Given the description of an element on the screen output the (x, y) to click on. 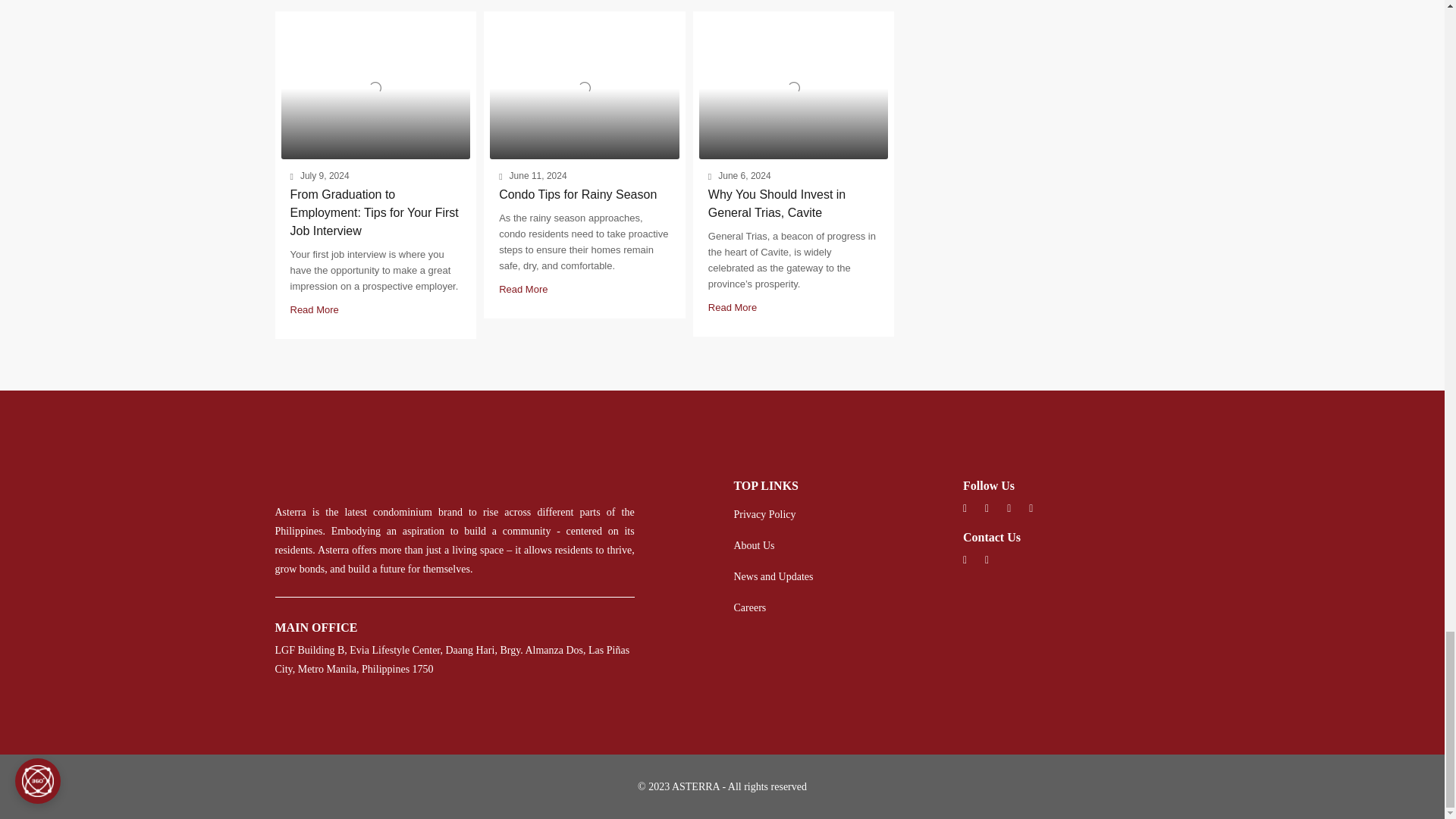
Read More (313, 309)
